Given the description of an element on the screen output the (x, y) to click on. 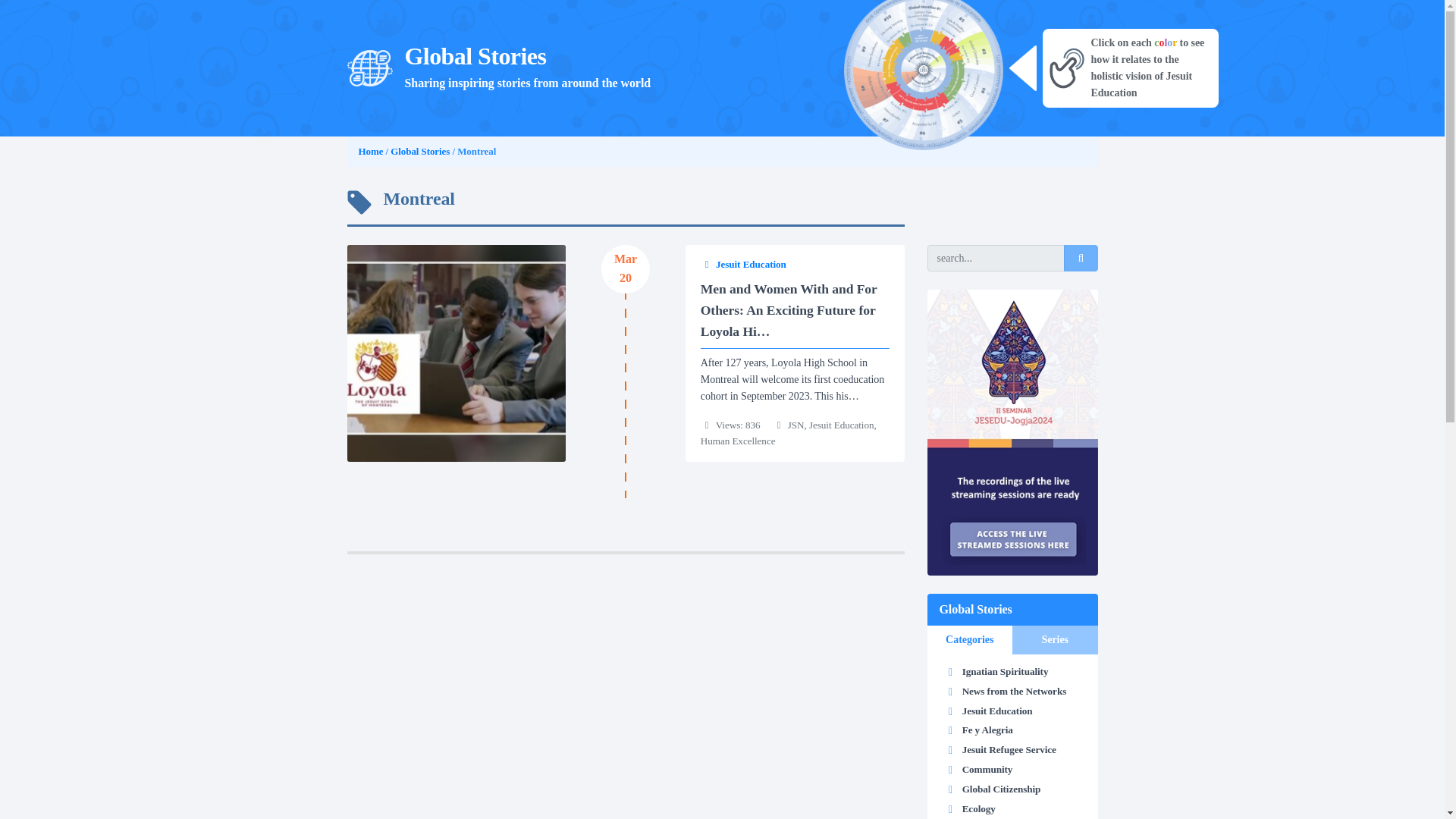
Human Excellence (738, 440)
Home (370, 151)
Categories (968, 639)
Go to Global Stories. (419, 151)
Series (1054, 639)
Go to Home. (370, 151)
Jesuit Refugee Service (1009, 749)
Ecology (978, 808)
Jesuit Education (997, 710)
Jesuit Education (794, 264)
Jesuit Education (842, 424)
News from the Networks (1014, 690)
JSN (796, 424)
Fe y Alegria (987, 729)
